Given the description of an element on the screen output the (x, y) to click on. 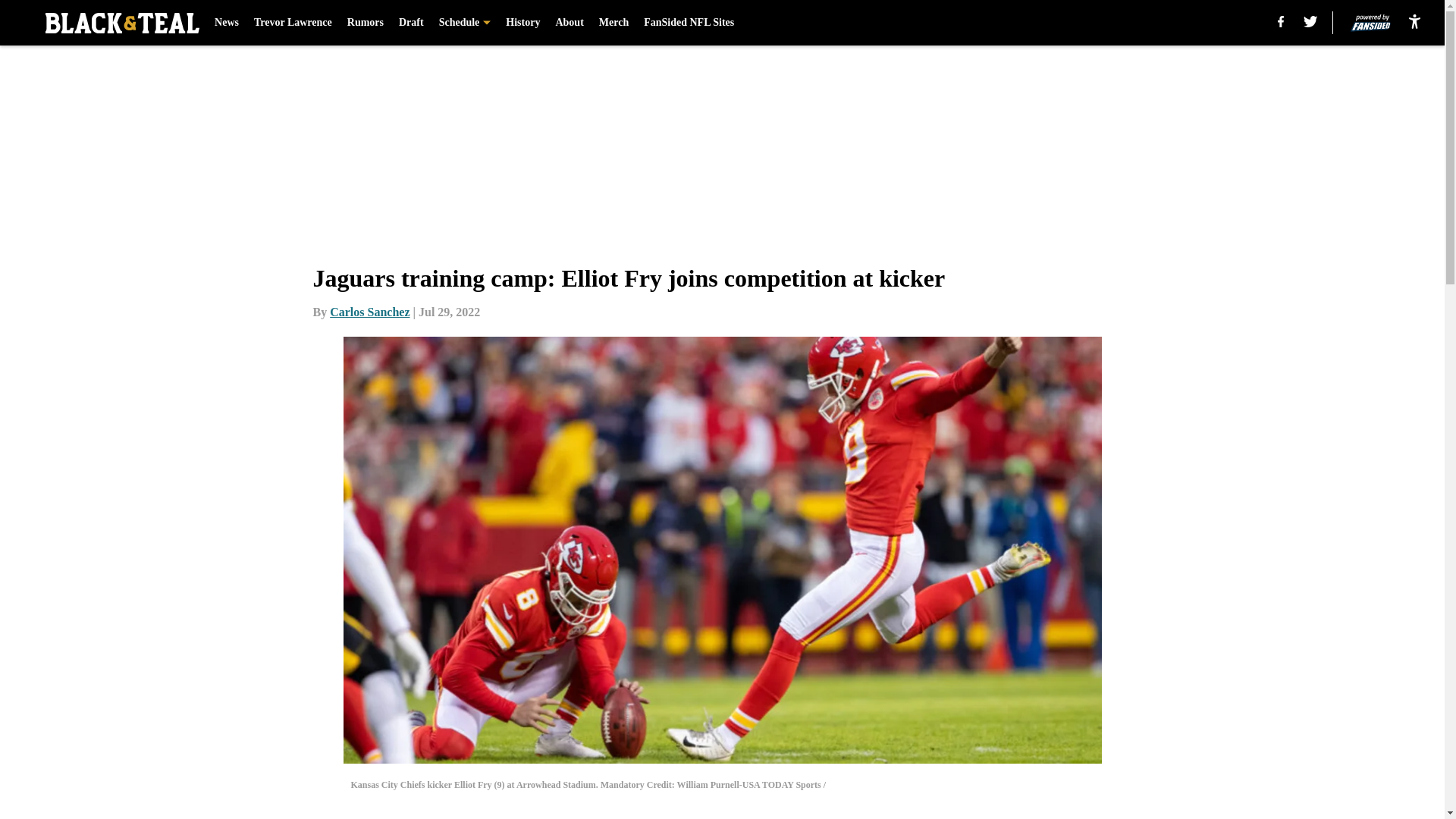
Merch (613, 22)
About (568, 22)
Trevor Lawrence (292, 22)
Rumors (365, 22)
History (522, 22)
Draft (410, 22)
FanSided NFL Sites (688, 22)
News (226, 22)
Carlos Sanchez (369, 311)
